Given the description of an element on the screen output the (x, y) to click on. 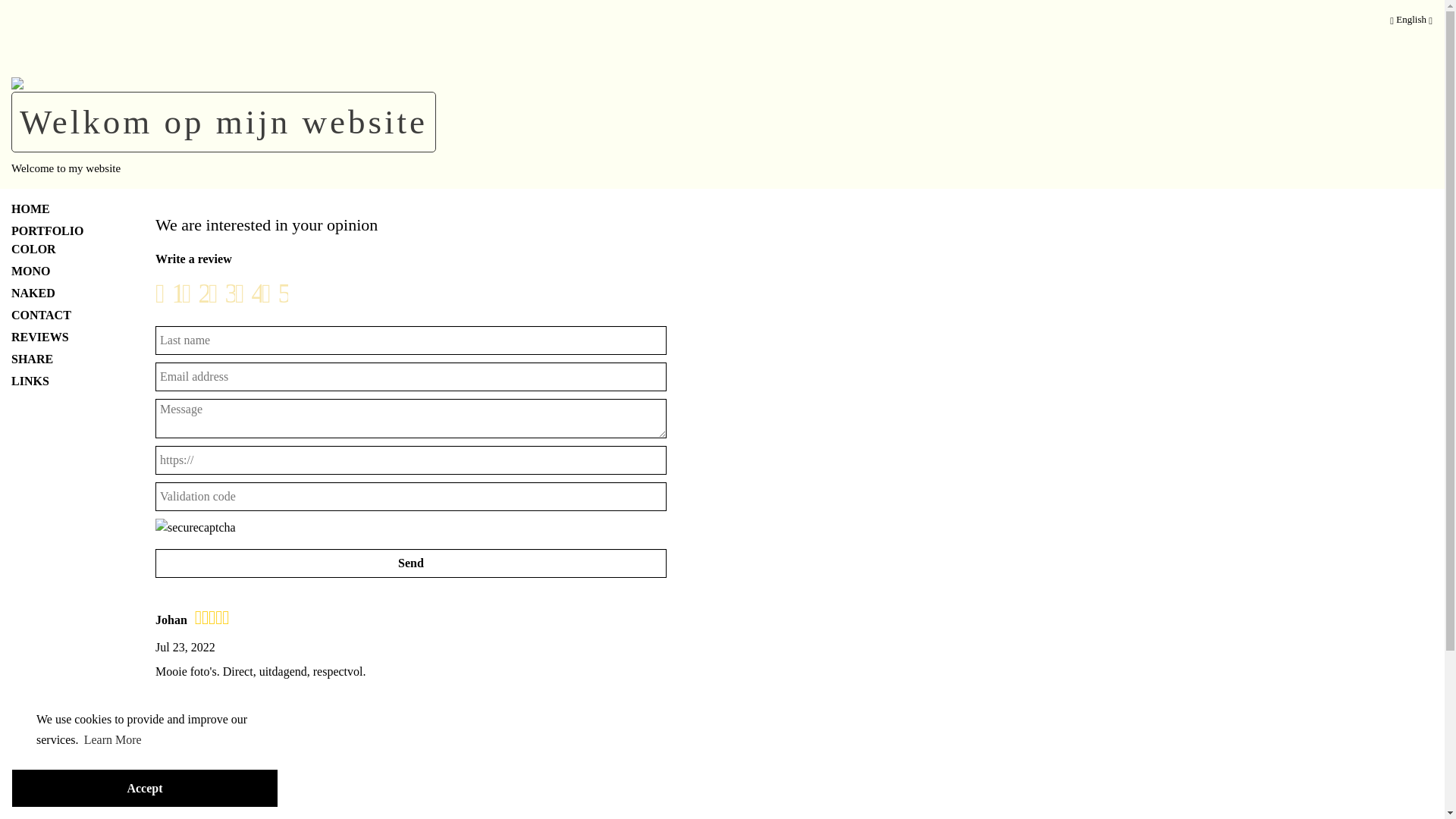
Learn More Element type: text (112, 739)
Accept Element type: text (144, 787)
MONO Element type: text (60, 271)
clemvannuffel.be Element type: hover (17, 81)
REVIEWS Element type: text (60, 336)
English Element type: text (1411, 21)
English Element type: text (1411, 19)
CONTACT Element type: text (60, 315)
Welkom op mijn website Element type: text (223, 121)
HOME Element type: text (60, 209)
NAKED Element type: text (60, 292)
LINKS Element type: text (60, 380)
Send Element type: text (410, 563)
PORTFOLIO COLOR Element type: text (60, 239)
SHARE Element type: text (60, 359)
